Given the description of an element on the screen output the (x, y) to click on. 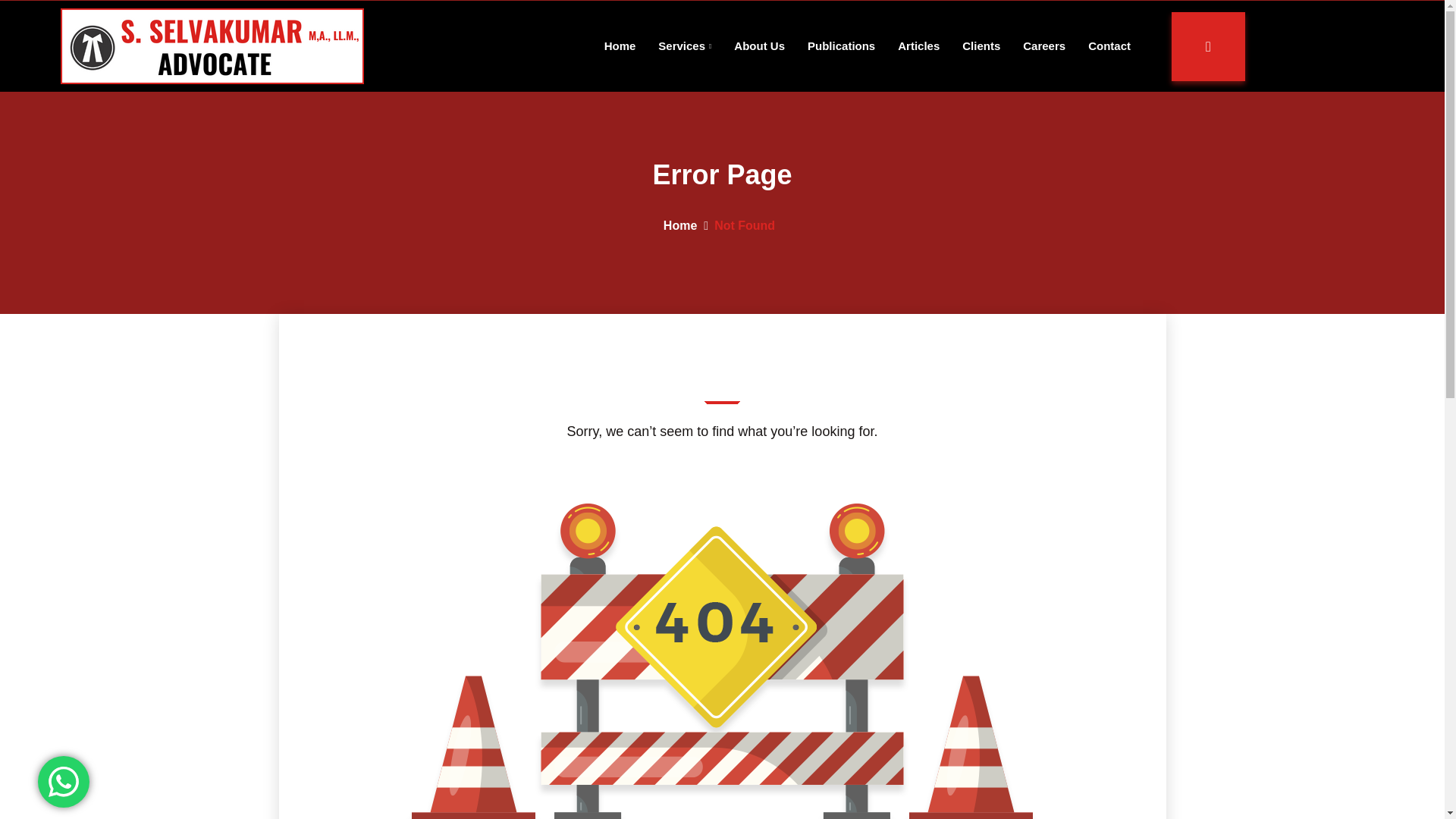
Publications (841, 45)
Home (212, 46)
WhatsApp us (680, 225)
